Given the description of an element on the screen output the (x, y) to click on. 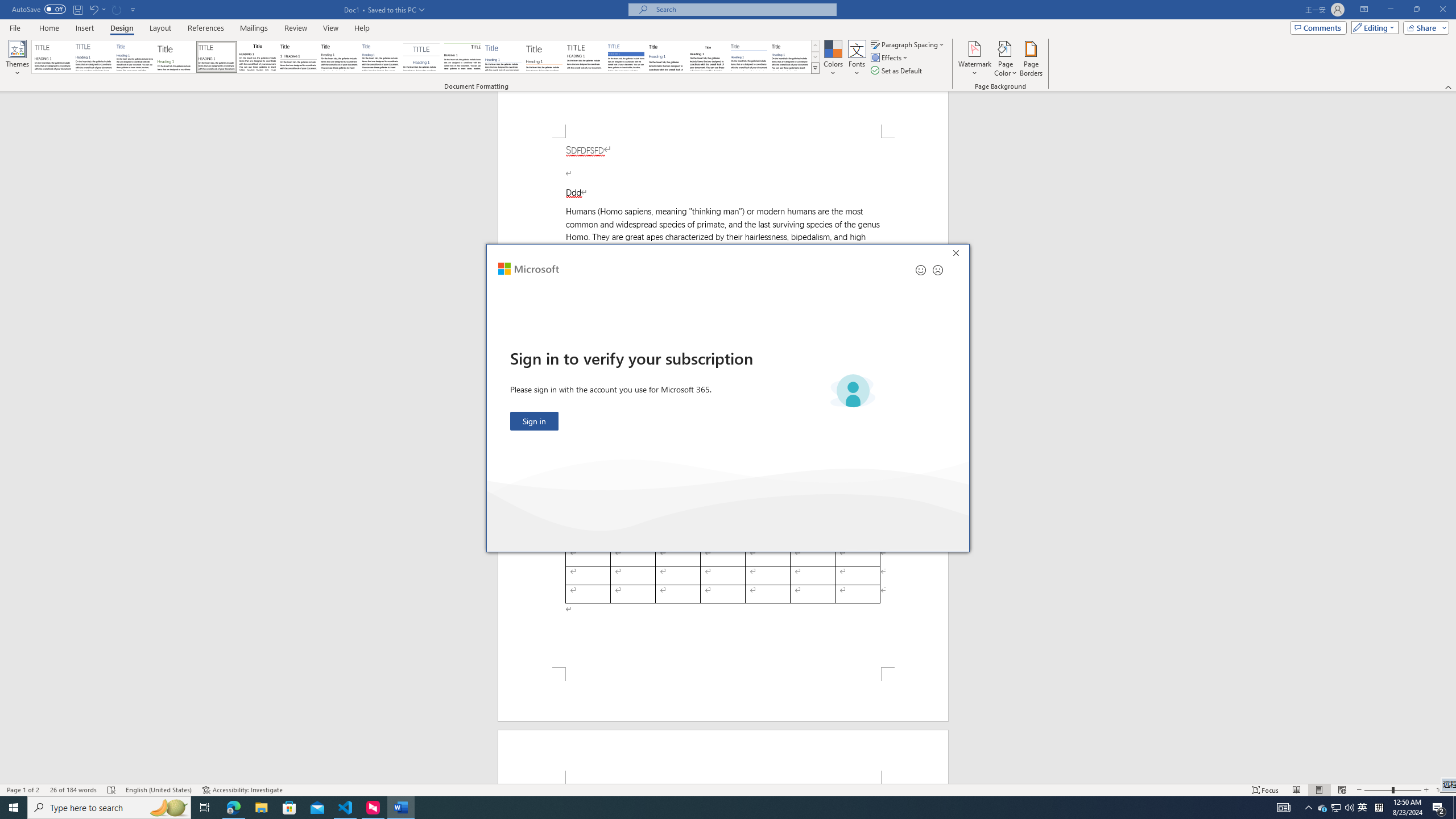
Fonts (856, 58)
AutomationID: QuickStylesSets (425, 56)
Casual (379, 56)
Word 2010 (749, 56)
Show desktop (1454, 807)
Lines (Simple) (503, 56)
Centered (421, 56)
Style Set (814, 67)
